Given the description of an element on the screen output the (x, y) to click on. 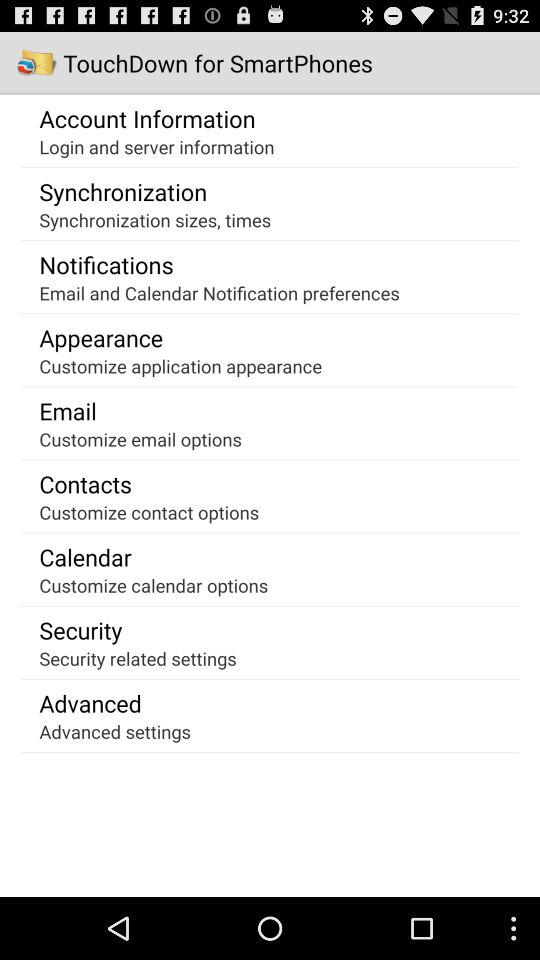
open item above customize contact options item (85, 483)
